Given the description of an element on the screen output the (x, y) to click on. 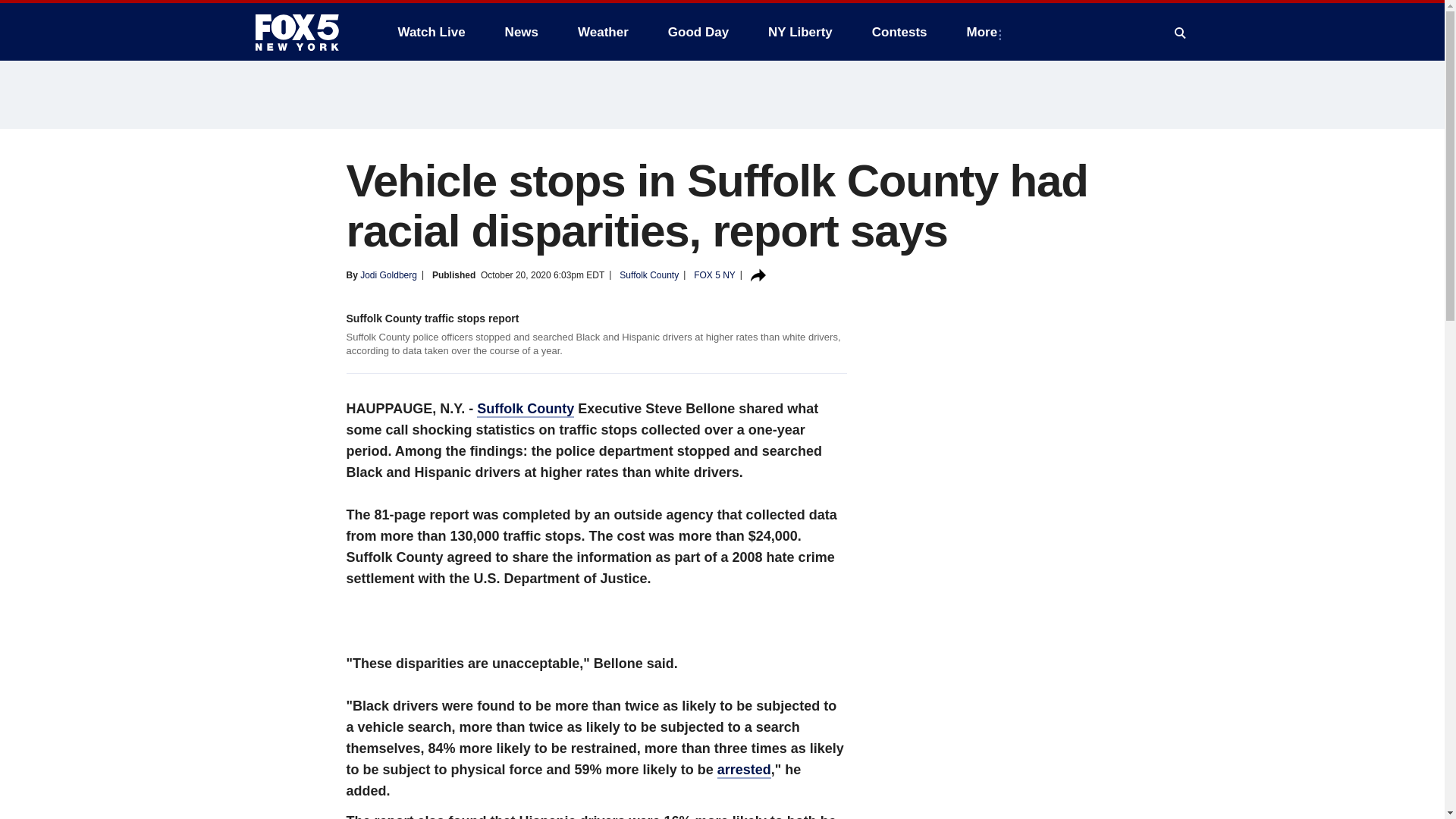
More (985, 32)
Watch Live (431, 32)
NY Liberty (799, 32)
Contests (899, 32)
News (521, 32)
Good Day (698, 32)
Weather (603, 32)
